Given the description of an element on the screen output the (x, y) to click on. 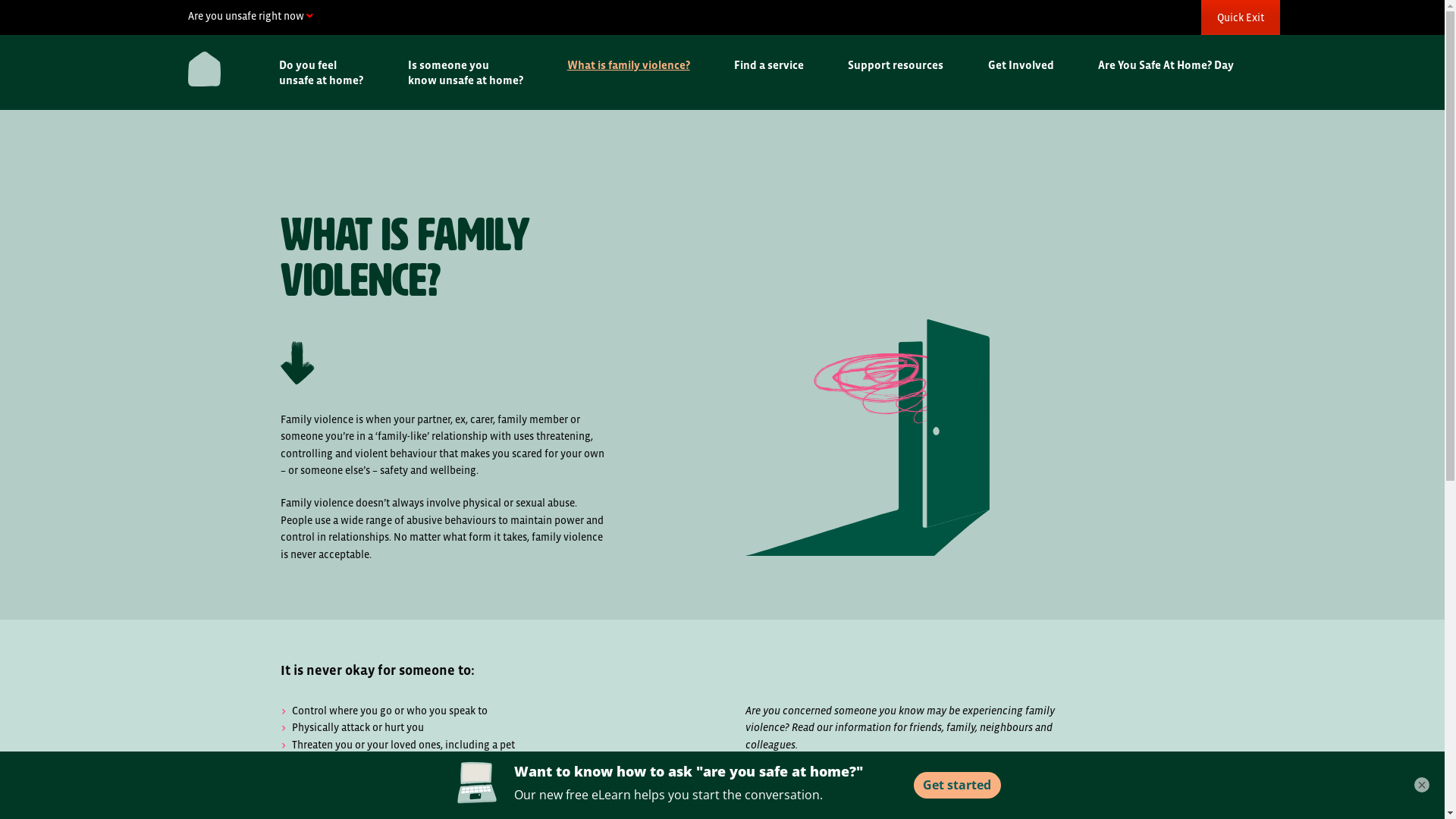
Do you feel unsafe at home? Element type: text (827, 796)
Do you feel
unsafe at home? Element type: text (327, 72)
arrow-down-green Element type: hover (297, 362)
Find a service Element type: text (775, 65)
do-you-feel-unsafe-door Element type: hover (866, 437)
Quick Exit Element type: text (1240, 17)
What is family violence? Element type: text (635, 65)
Support resources Element type: text (902, 65)
Get Involved Element type: text (1027, 65)
Is someone you
know unsafe at home? Element type: text (472, 72)
Are You Safe At Home? Day Element type: text (1172, 65)
